Given the description of an element on the screen output the (x, y) to click on. 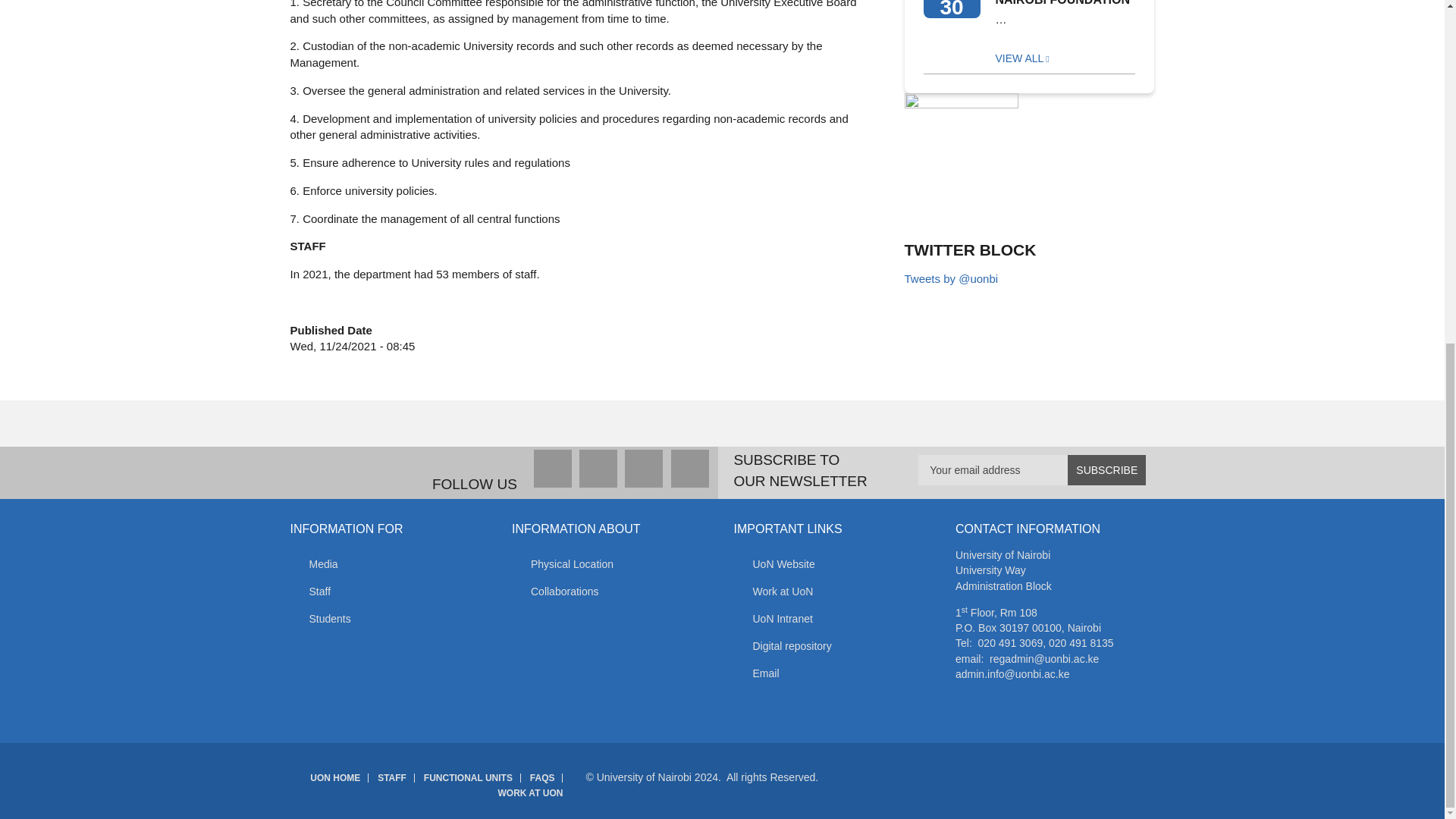
University Email (833, 673)
Health Services (833, 646)
Intranet (833, 619)
uon (833, 564)
Collaborations (611, 592)
Your email address (1031, 470)
Physical Location (611, 564)
Media (389, 564)
SUBSCRIBE (1106, 470)
jobs (833, 592)
